Given the description of an element on the screen output the (x, y) to click on. 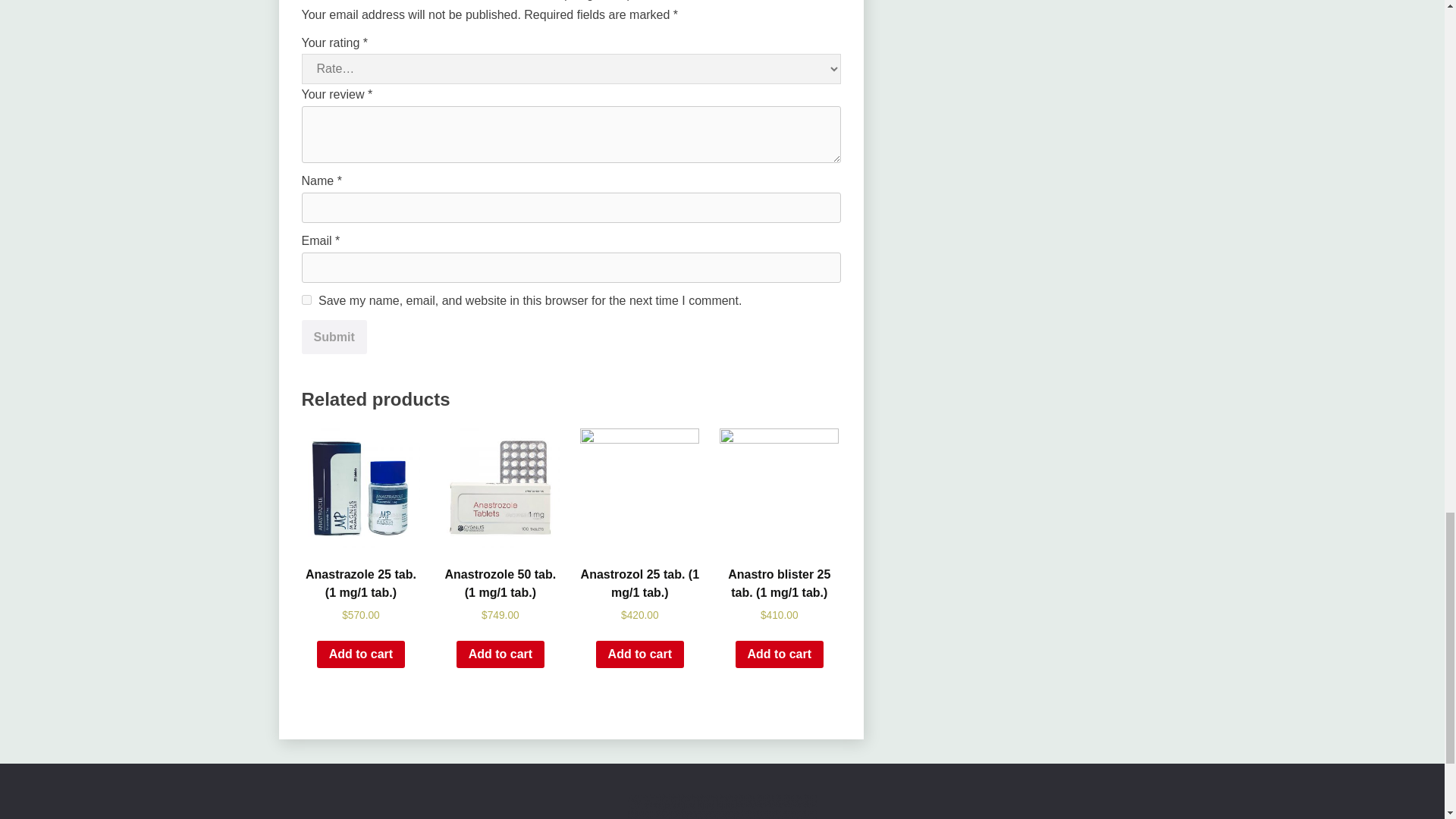
Submit (333, 336)
Submit (333, 336)
yes (306, 299)
Add to cart (360, 654)
